Given the description of an element on the screen output the (x, y) to click on. 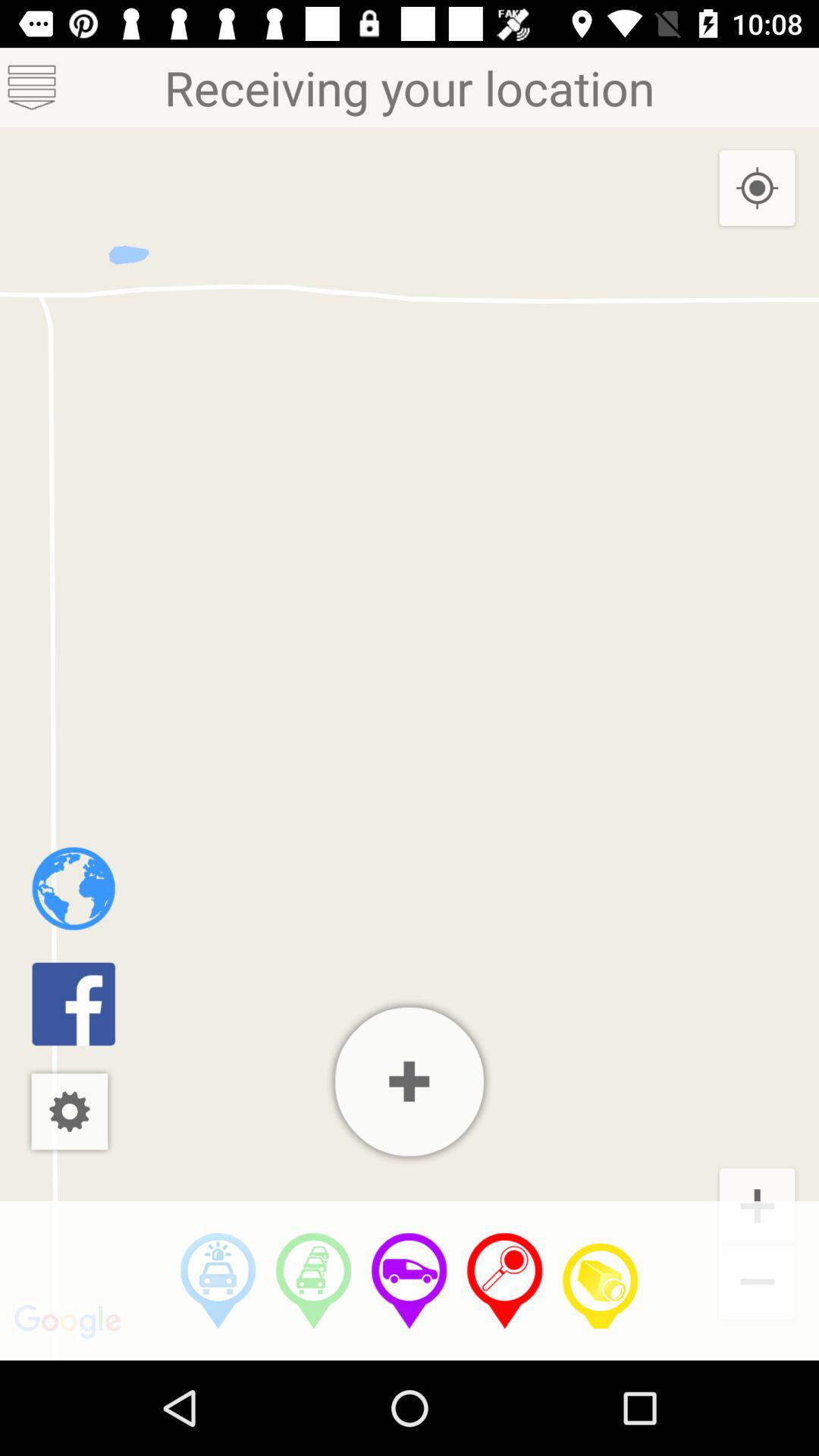
tap to enter settings (69, 1111)
